Given the description of an element on the screen output the (x, y) to click on. 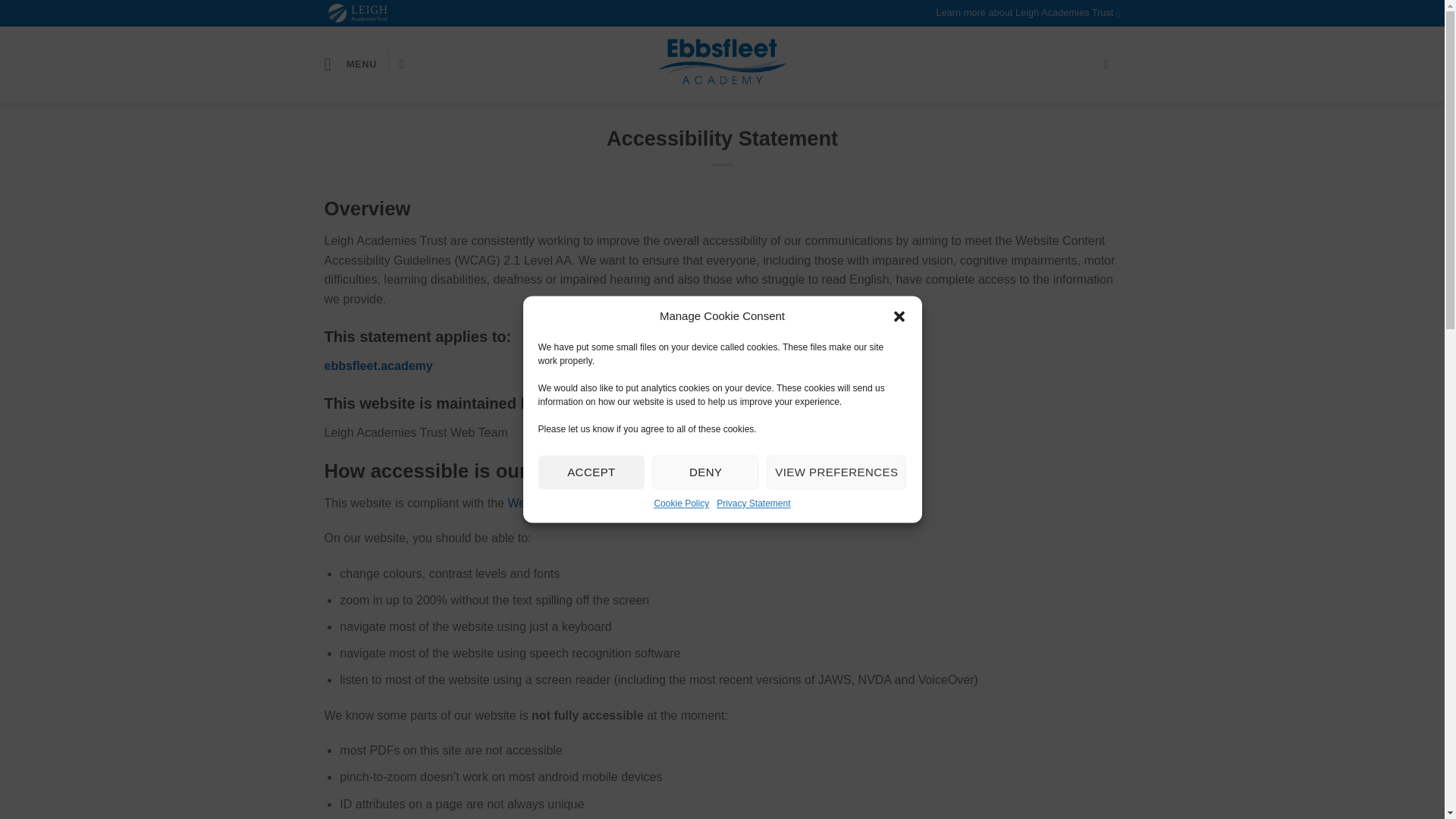
Learn more about Leigh Academies Trust (1027, 12)
Web Content Accessibility Guidelines version 2.1 (636, 502)
Send us an email (1109, 63)
Privacy Statement (753, 503)
MENU (350, 63)
VIEW PREFERENCES (836, 471)
Ebbsfleet Academy (722, 63)
DENY (705, 471)
ebbsfleet.academy (378, 365)
Cookie Policy (681, 503)
ACCEPT (591, 471)
